Given the description of an element on the screen output the (x, y) to click on. 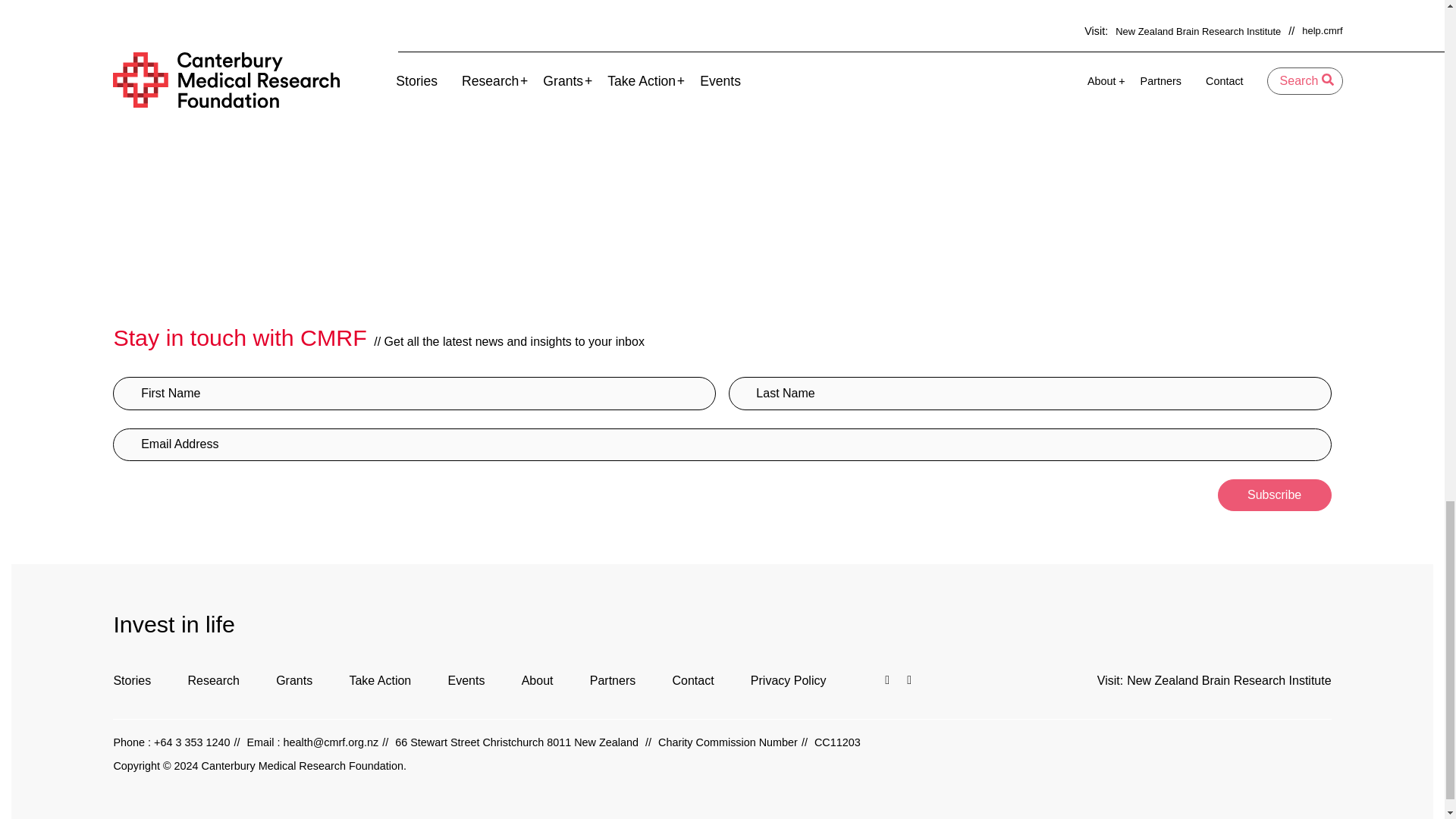
Subscribe (1274, 495)
